Given the description of an element on the screen output the (x, y) to click on. 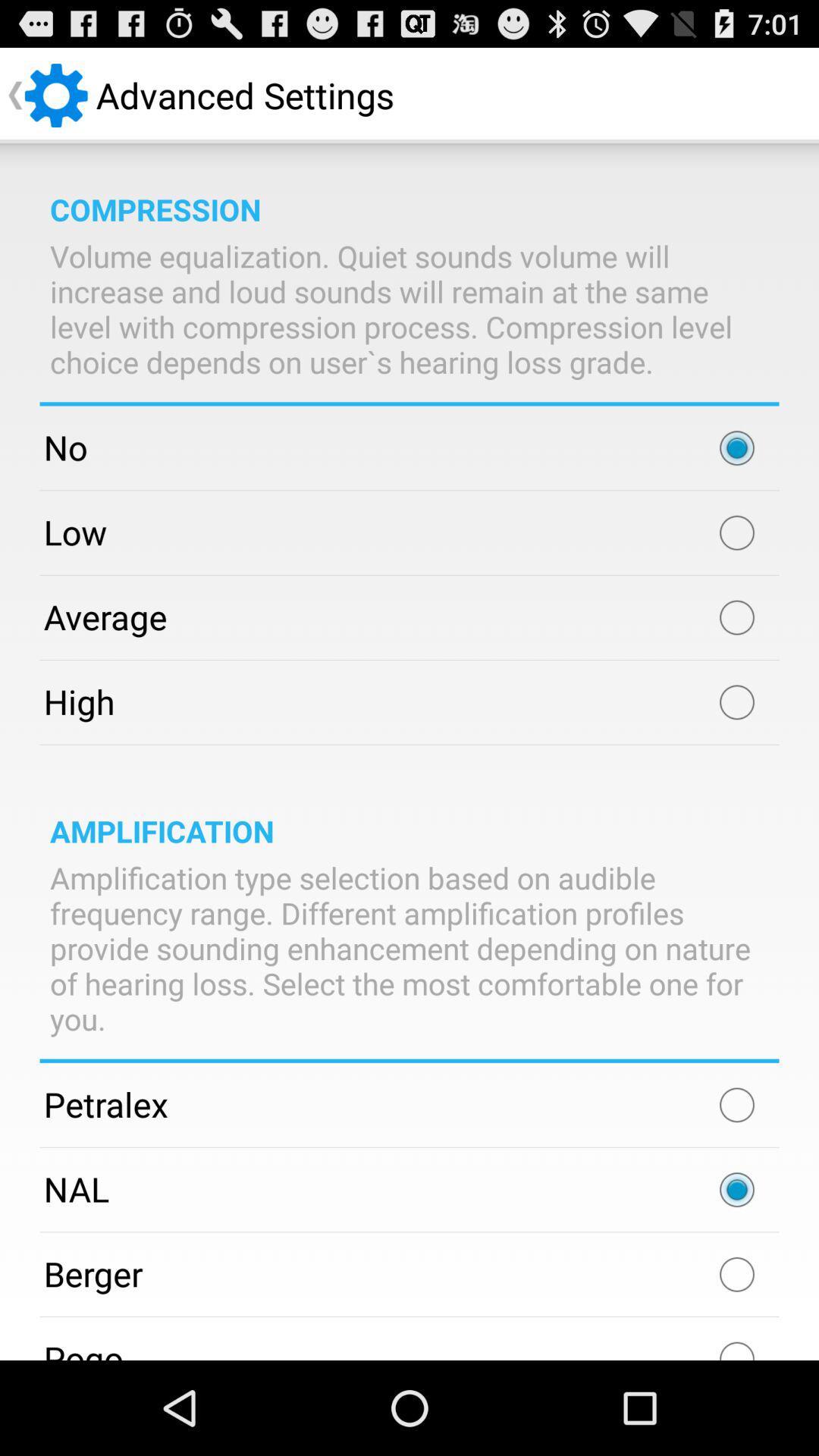
mark button option (736, 702)
